Given the description of an element on the screen output the (x, y) to click on. 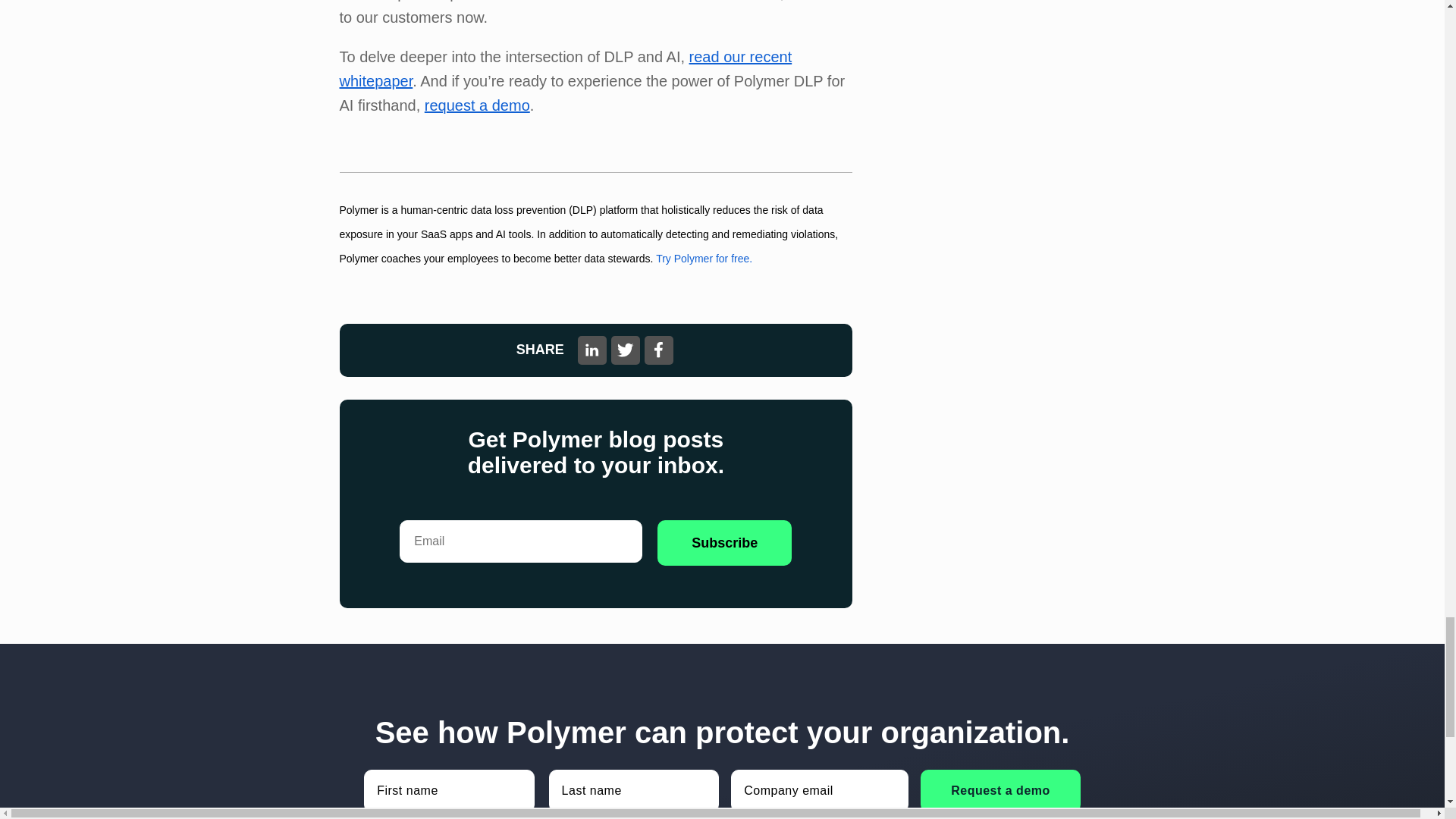
Request a demo (1000, 790)
Subscribe (725, 542)
Try Polymer for free (704, 258)
